Given the description of an element on the screen output the (x, y) to click on. 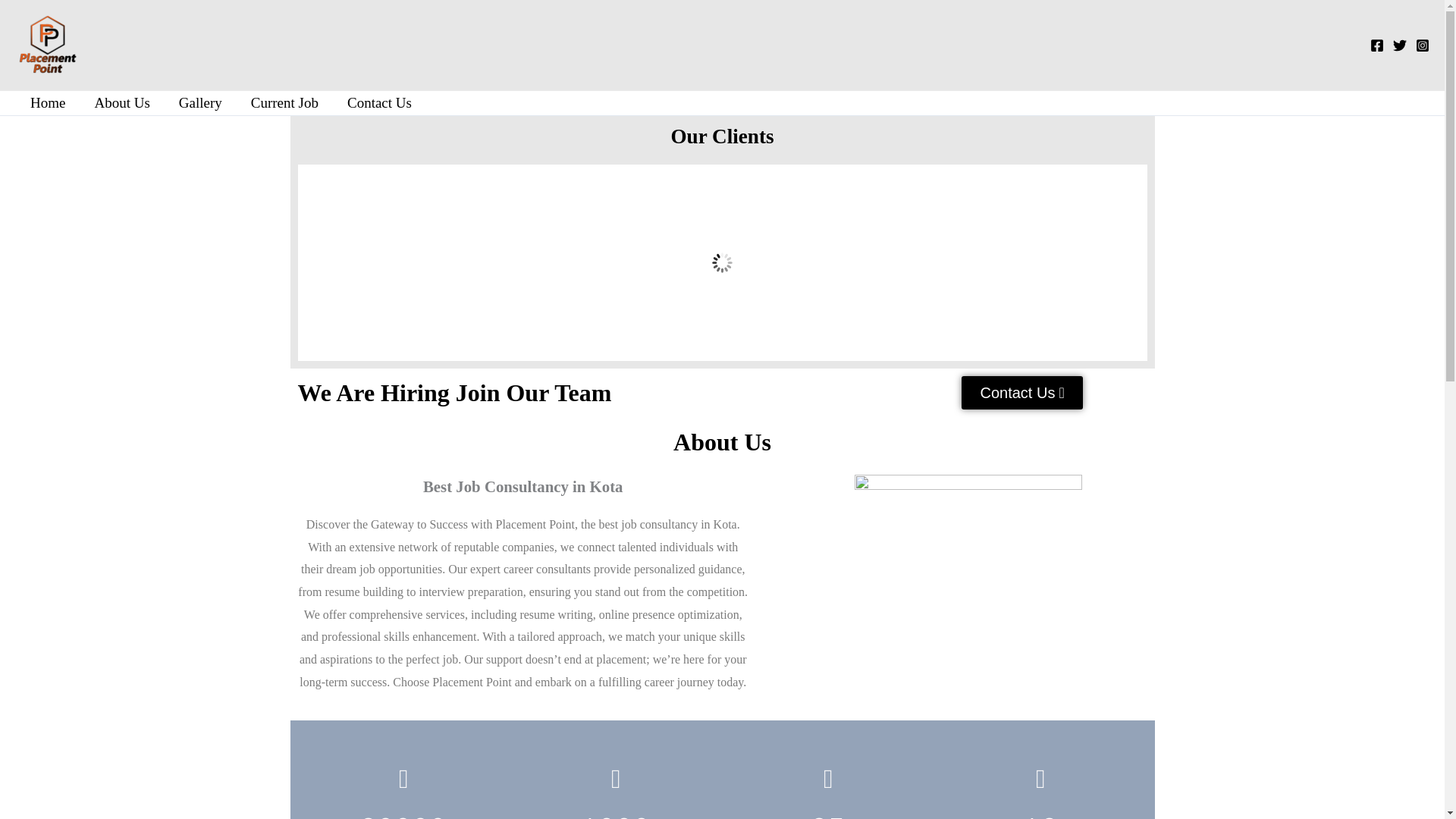
Contact Us (379, 102)
About Us (121, 102)
Home (48, 102)
Contact Us (1020, 392)
Current Job (284, 102)
Gallery (199, 102)
